Given the description of an element on the screen output the (x, y) to click on. 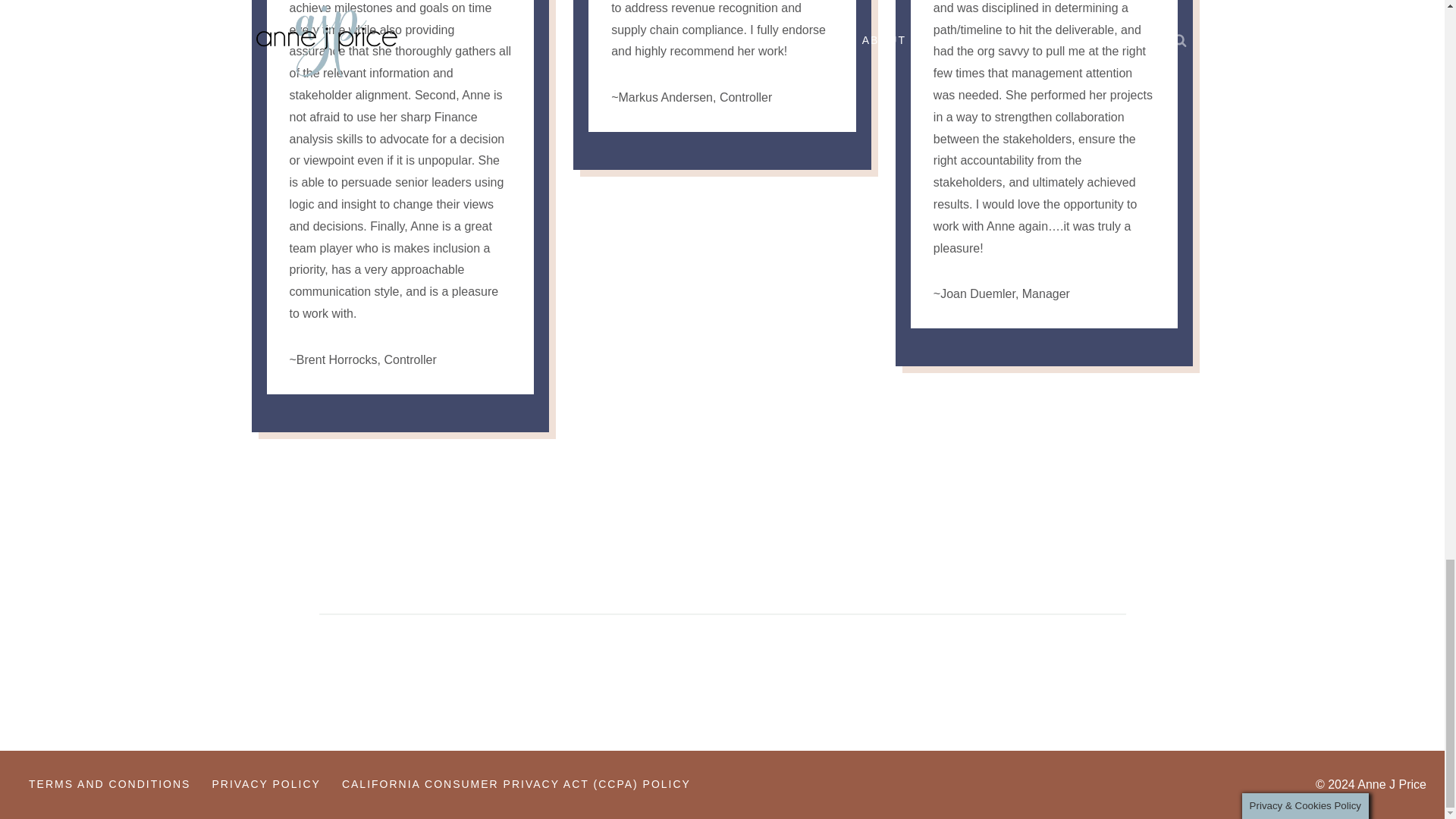
PRIVACY POLICY (265, 784)
TERMS AND CONDITIONS (108, 784)
